Given the description of an element on the screen output the (x, y) to click on. 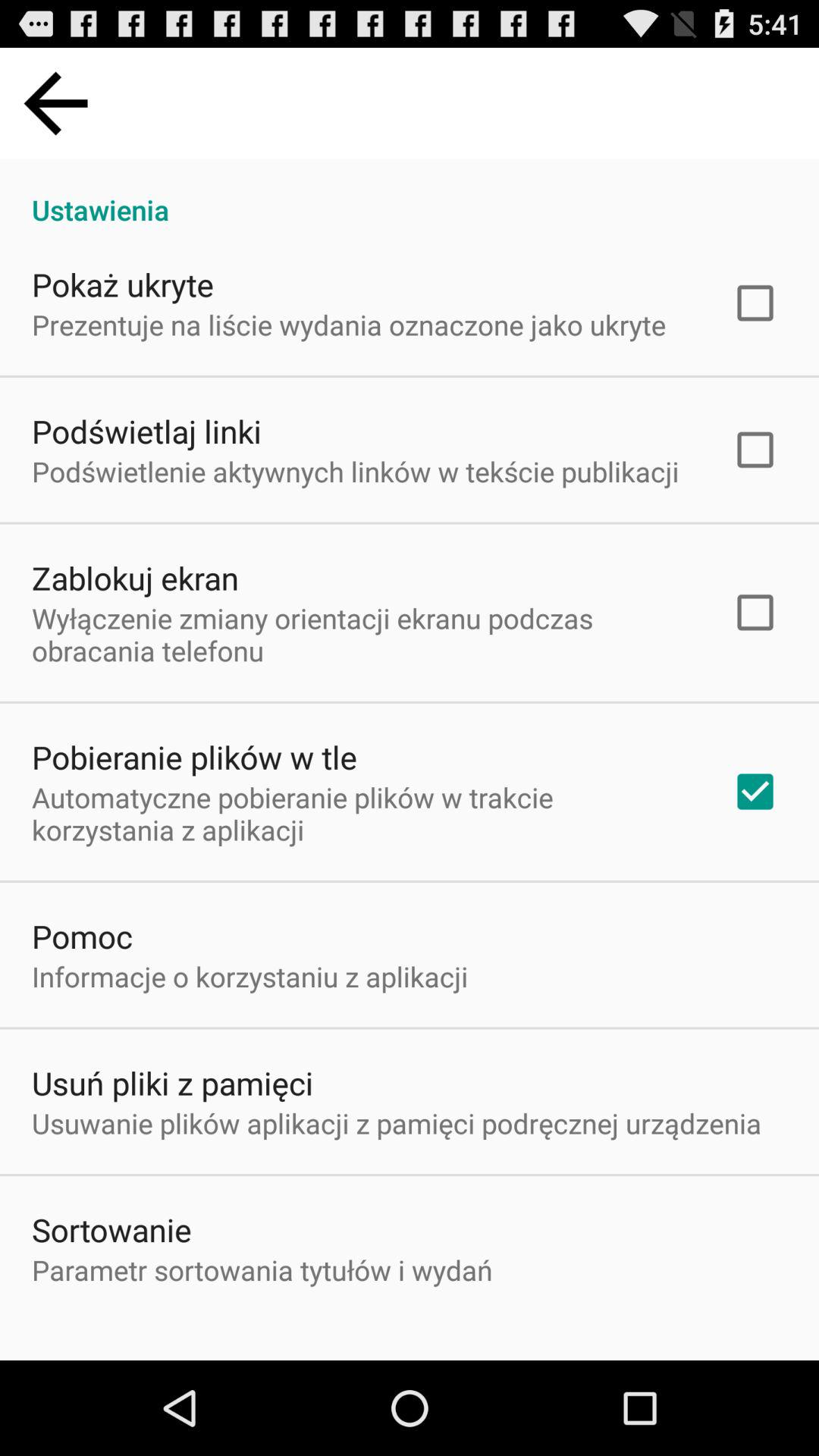
open icon below zablokuj ekran item (361, 634)
